Given the description of an element on the screen output the (x, y) to click on. 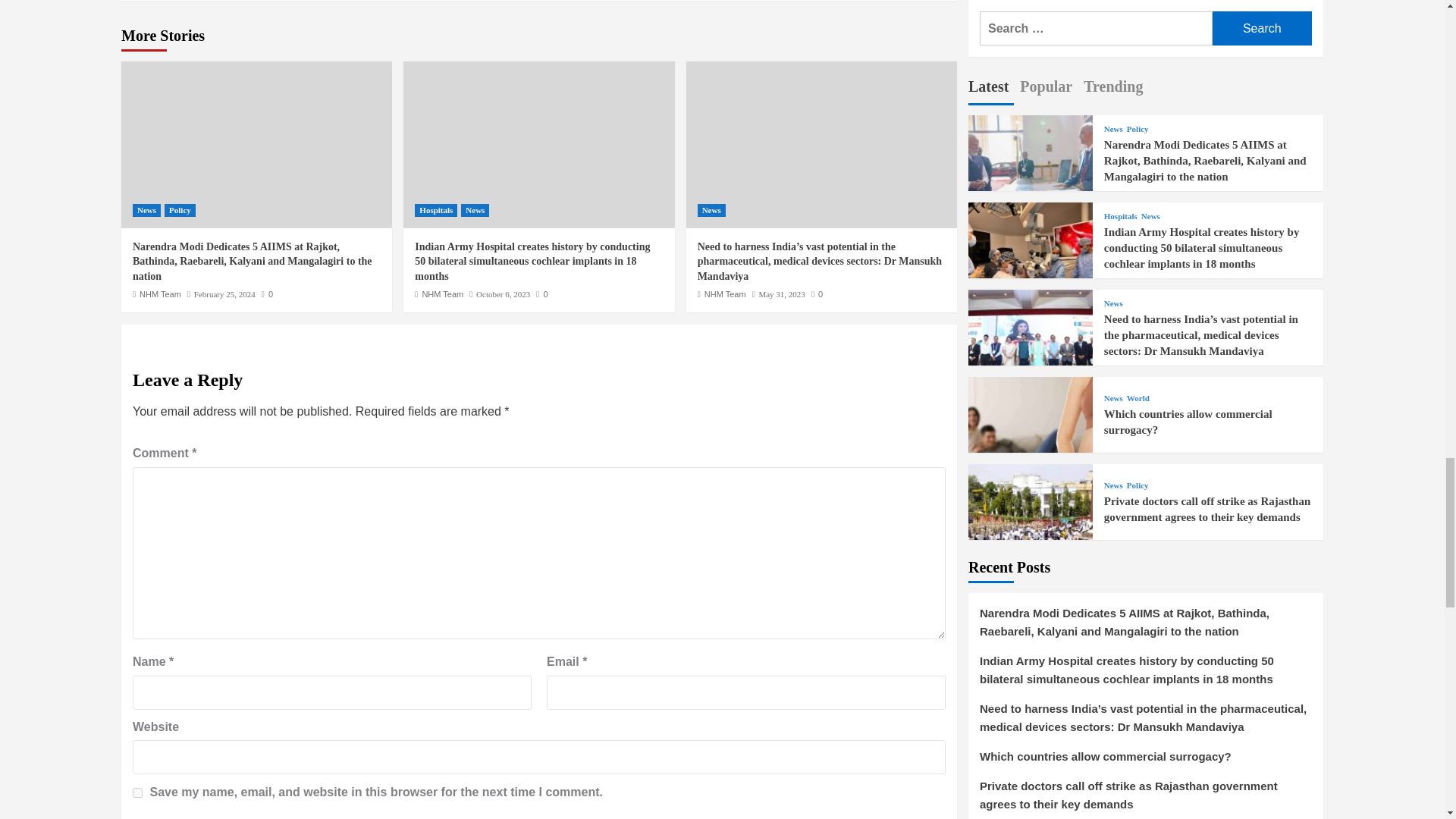
NHM Team (159, 293)
News (146, 210)
Policy (179, 210)
yes (137, 792)
